Given the description of an element on the screen output the (x, y) to click on. 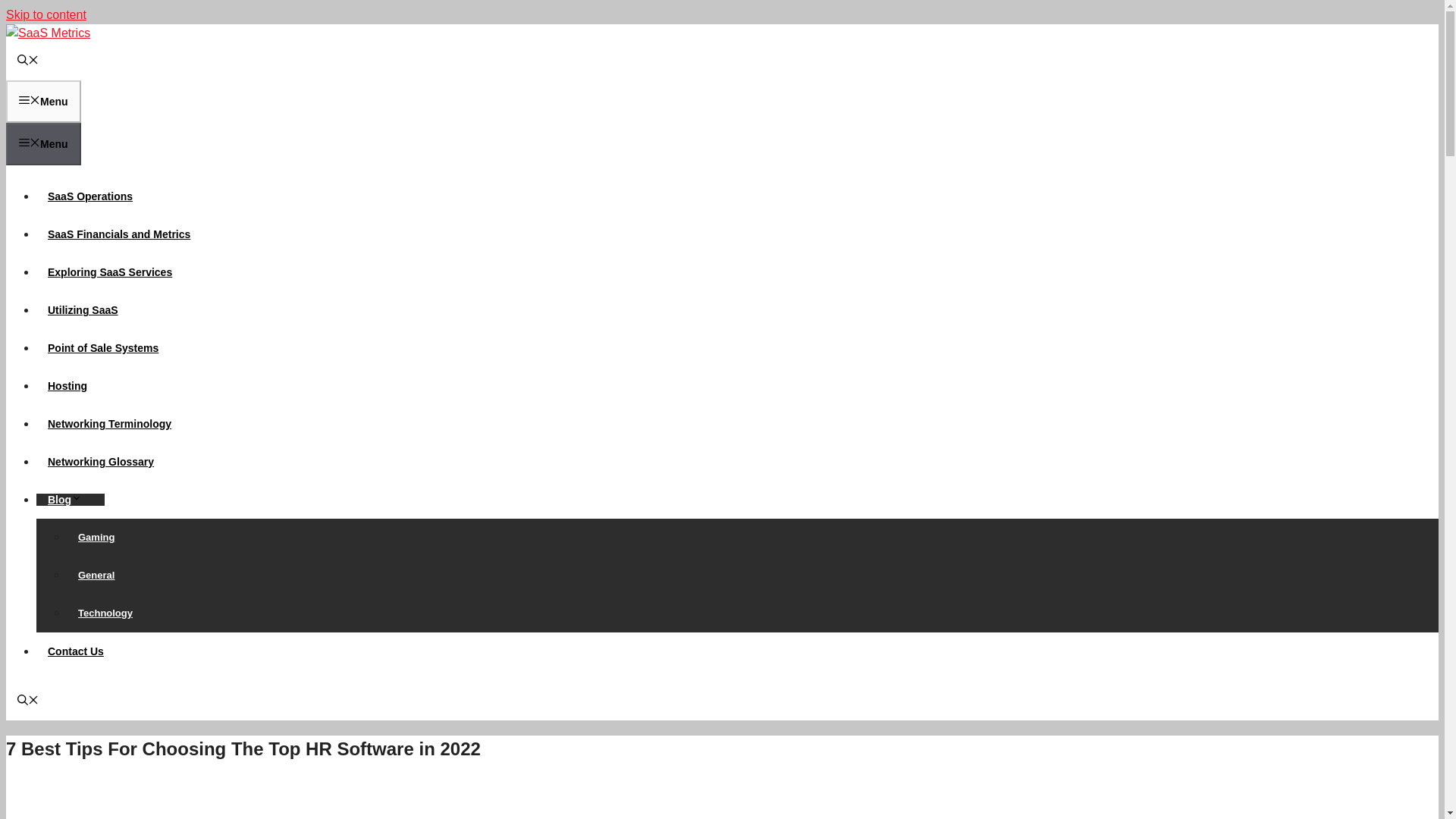
Skip to content (45, 14)
Networking Terminology (109, 423)
SaaS Metrics (47, 32)
SaaS Metrics (47, 33)
Networking Glossary (100, 461)
Menu (43, 101)
Blog (70, 499)
Hosting (67, 386)
SaaS Operations (90, 196)
Utilizing SaaS (82, 309)
Exploring SaaS Services (109, 272)
Gaming (95, 537)
Skip to content (45, 14)
SaaS Financials and Metrics (119, 234)
Technology (105, 612)
